Given the description of an element on the screen output the (x, y) to click on. 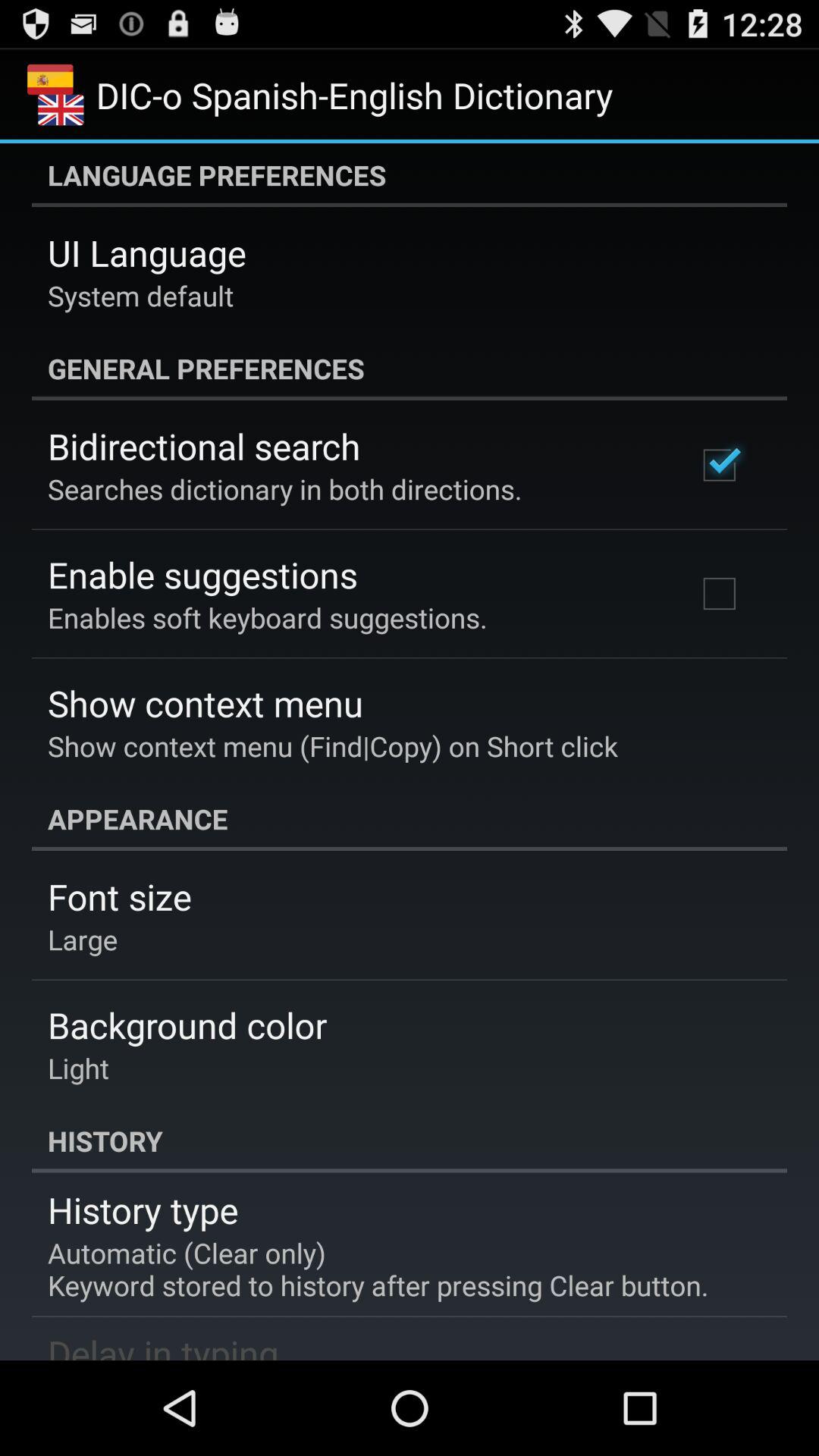
tap the icon below the automatic clear only item (162, 1344)
